Given the description of an element on the screen output the (x, y) to click on. 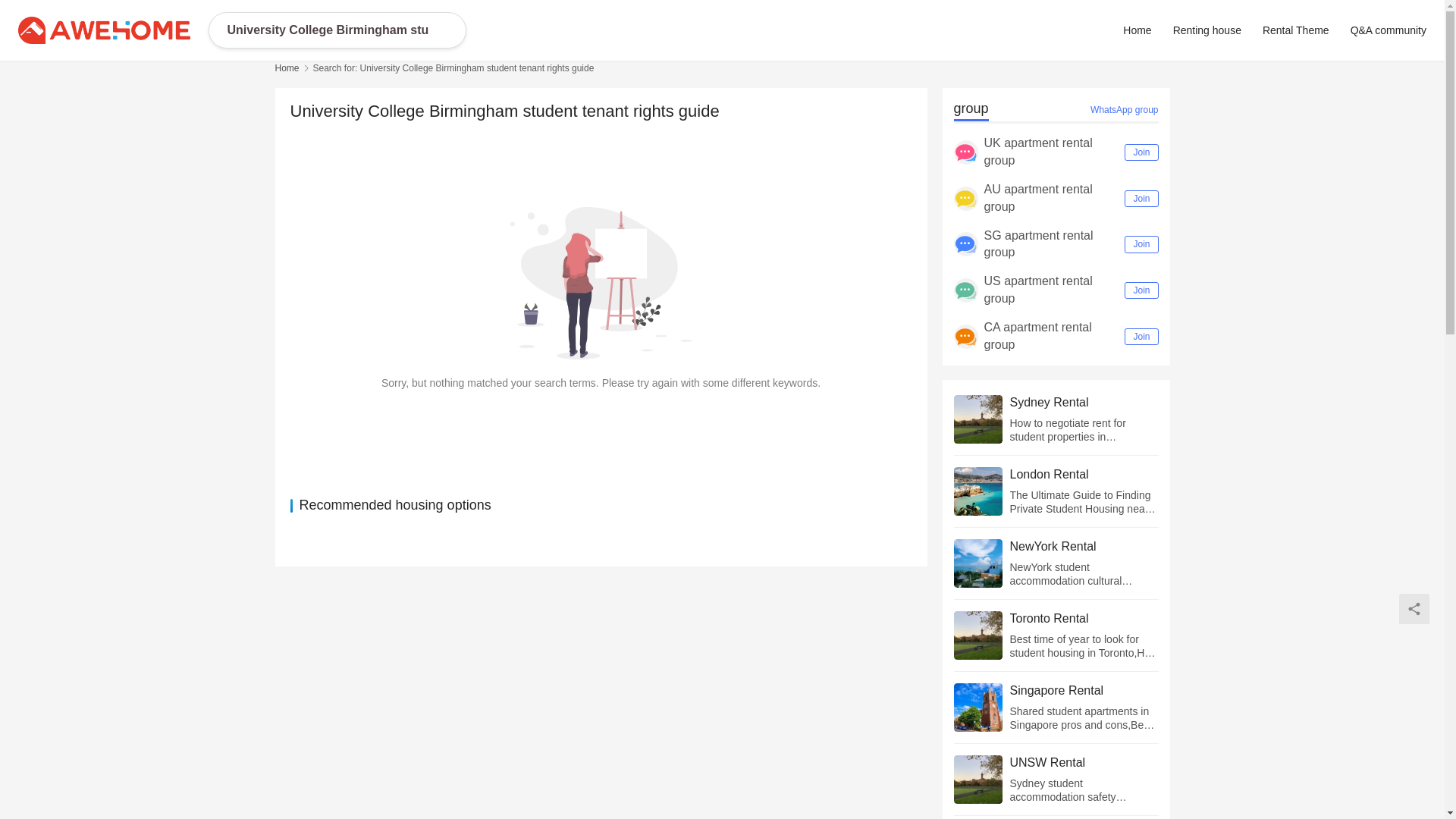
NewYork Rental (1084, 546)
Sydney Rental (1084, 402)
University College Birmingham student tenant rights guide (327, 30)
Home (1140, 29)
Home (286, 68)
UNSW Rental (1084, 762)
Renting house (1206, 29)
Toronto Rental (1084, 618)
Singapore Rental (1084, 690)
Rental Theme (1295, 29)
University College Birmingham student tenant rights guide (327, 30)
